Given the description of an element on the screen output the (x, y) to click on. 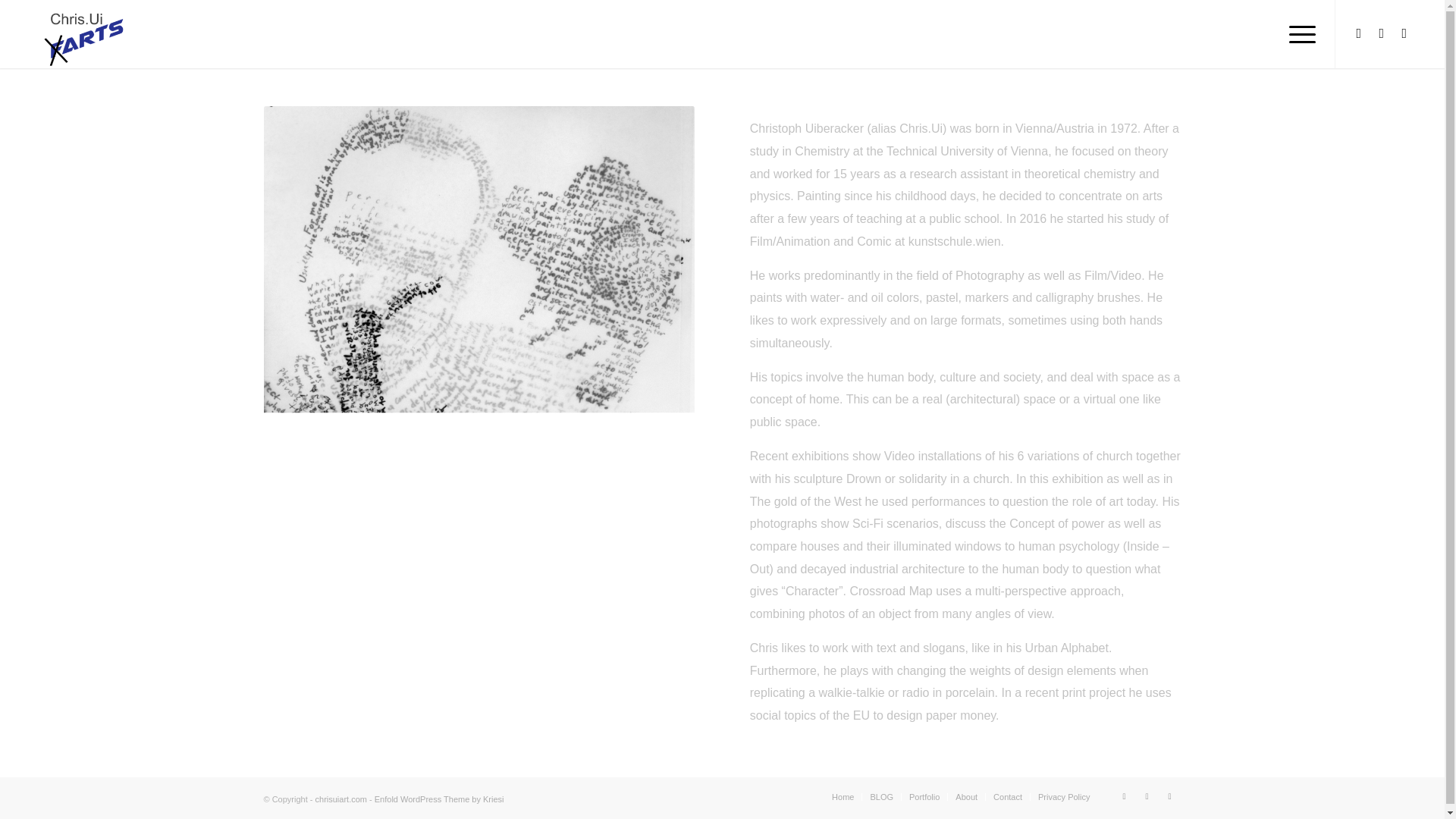
Contact (1007, 796)
About (965, 796)
Mail (1404, 33)
BLOG (881, 796)
Mail (1169, 795)
Instagram (1146, 795)
chrisuiart.com (340, 798)
Enfold WordPress Theme by Kriesi (438, 798)
Facebook (1124, 795)
Home (842, 796)
